Given the description of an element on the screen output the (x, y) to click on. 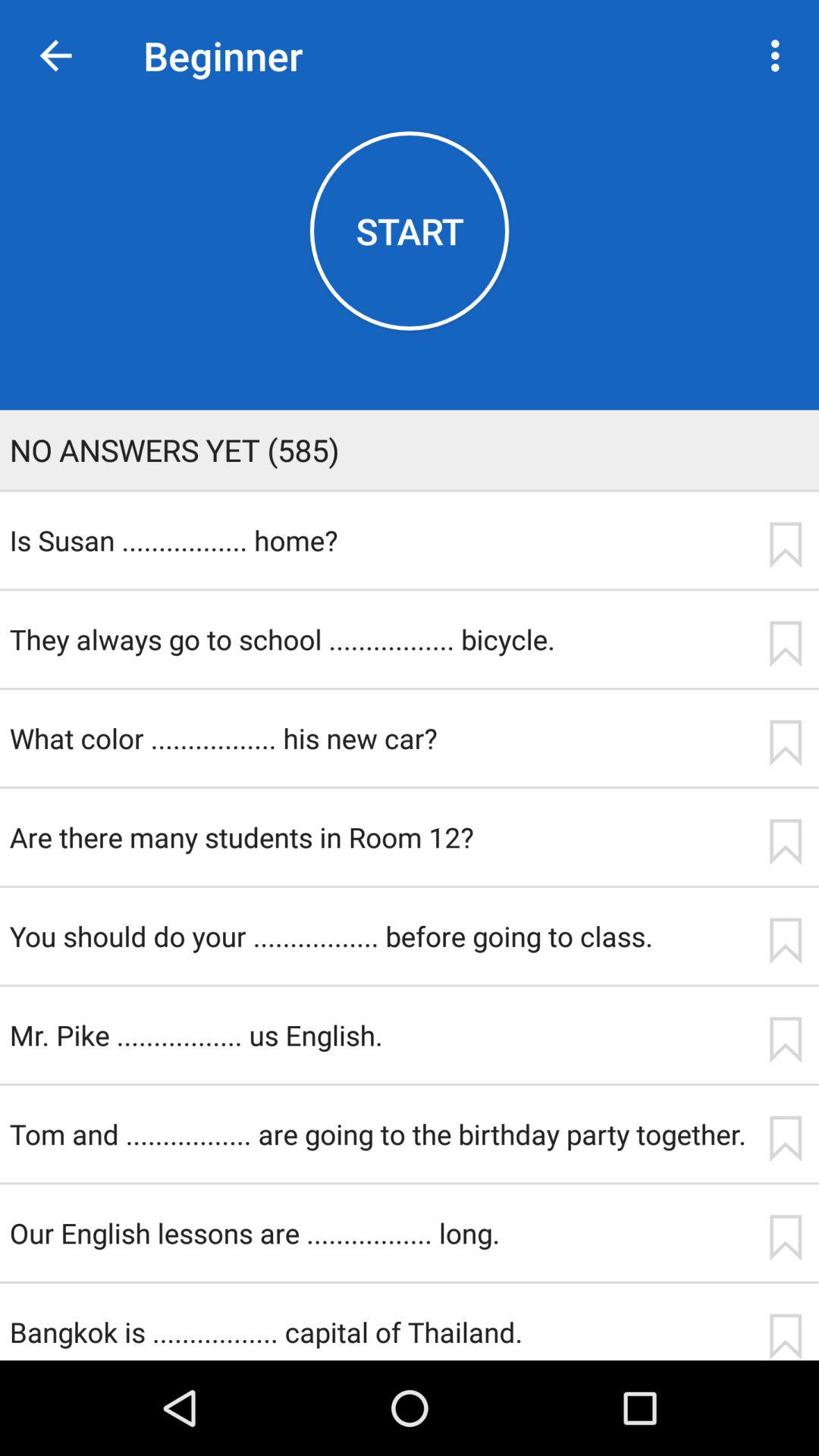
launch item to the left of beginner (55, 55)
